Given the description of an element on the screen output the (x, y) to click on. 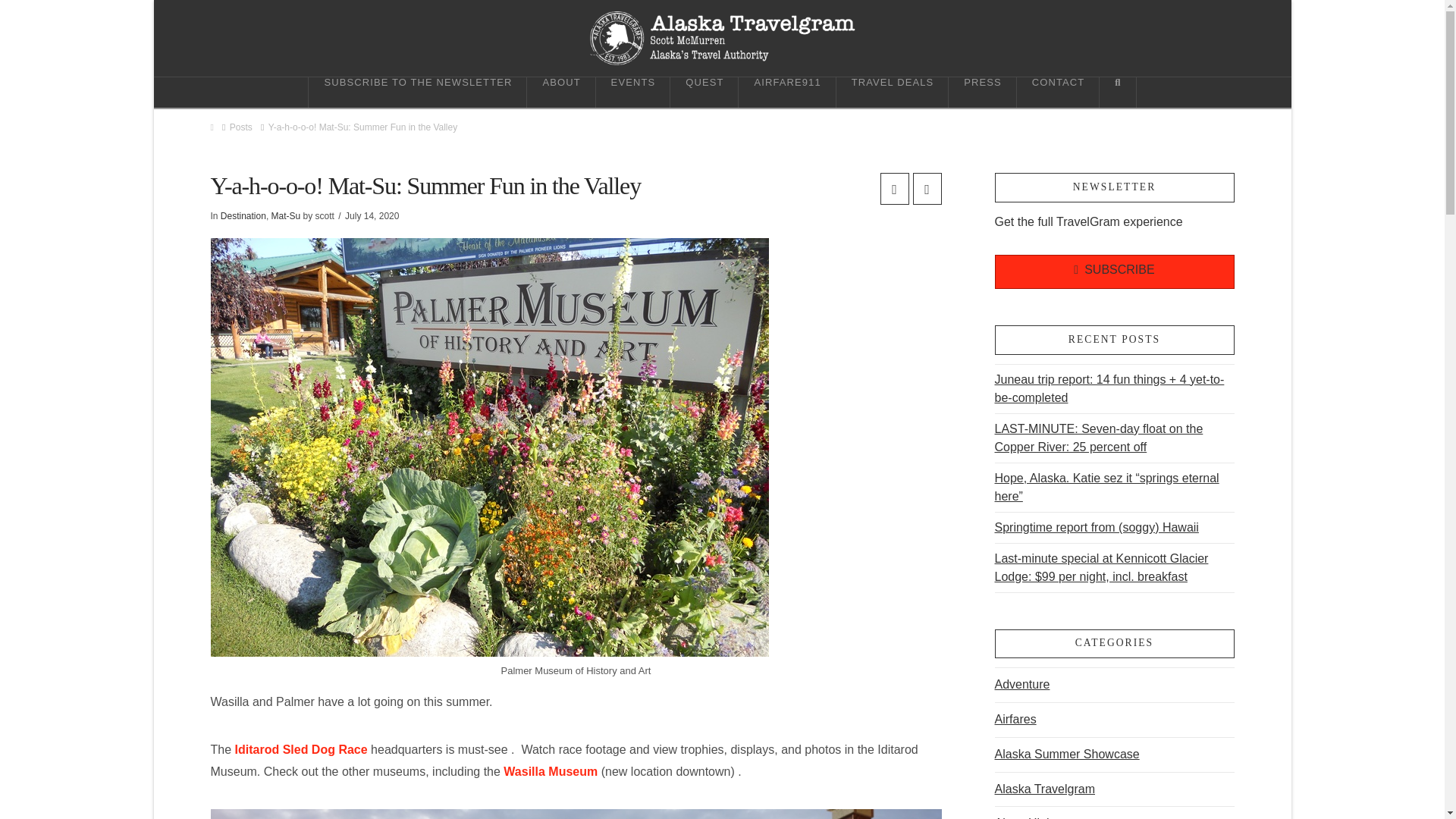
TRAVEL DEALS (892, 91)
PRESS (982, 91)
AIRFARE911 (786, 91)
ABOUT (561, 91)
Destination (243, 215)
EVENTS (633, 91)
Y-a-h-o-o-o! Mat-Su: Summer Fun in the Valley (362, 127)
Iditarod Sled Dog Race (299, 748)
SUBSCRIBE TO THE NEWSLETTER (417, 91)
Mat-Su (285, 215)
QUEST (703, 91)
You Are Here (362, 127)
Wasilla Museum (549, 771)
CONTACT (1058, 91)
Posts (240, 127)
